Given the description of an element on the screen output the (x, y) to click on. 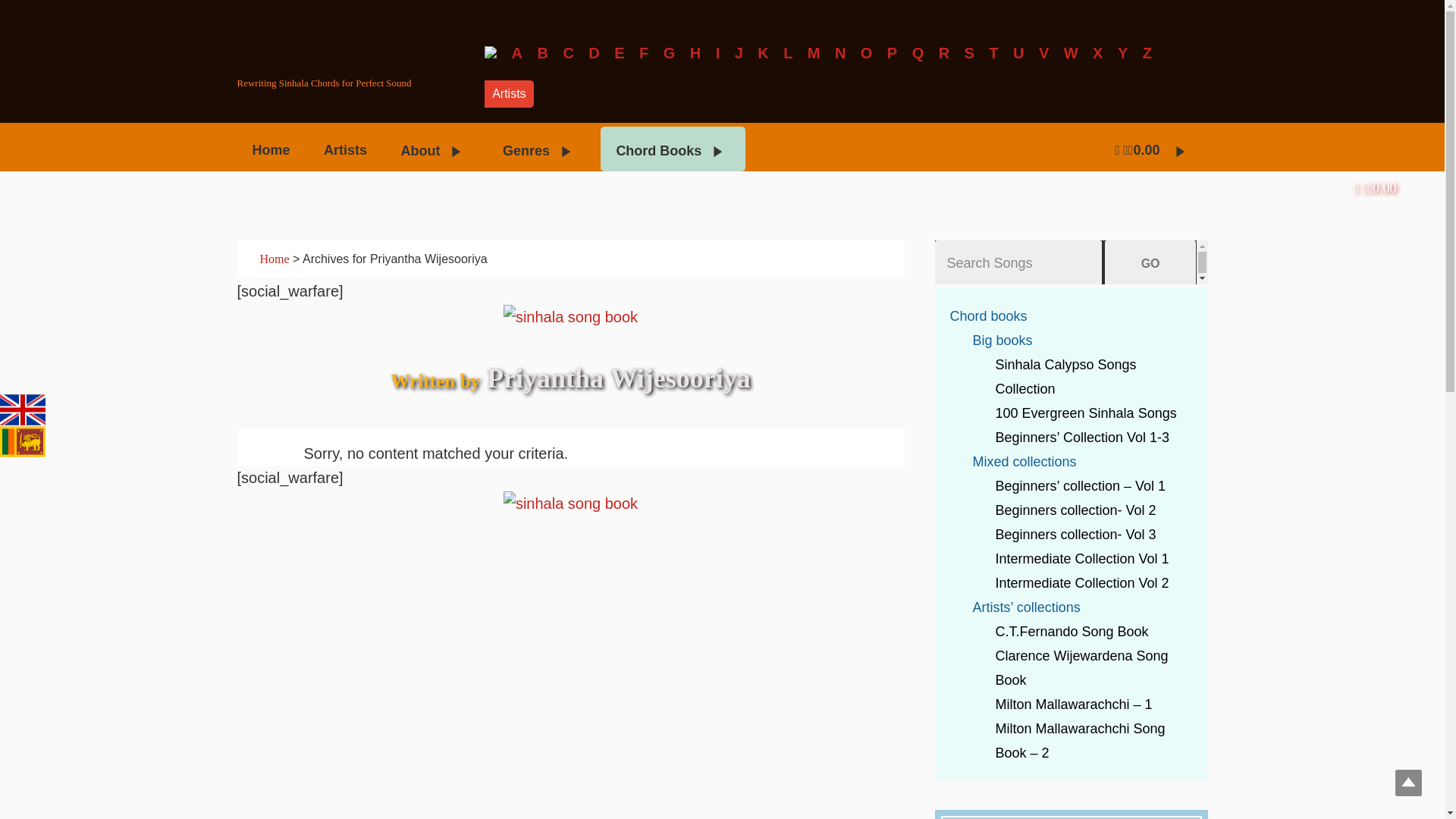
C (567, 53)
T (992, 53)
V (1043, 53)
N (839, 53)
Artists (344, 146)
K (762, 53)
About (434, 148)
G (669, 53)
U (1018, 53)
O (866, 53)
D (593, 53)
Go (1150, 263)
Sinhala song book (349, 45)
Start shopping (1375, 187)
